Given the description of an element on the screen output the (x, y) to click on. 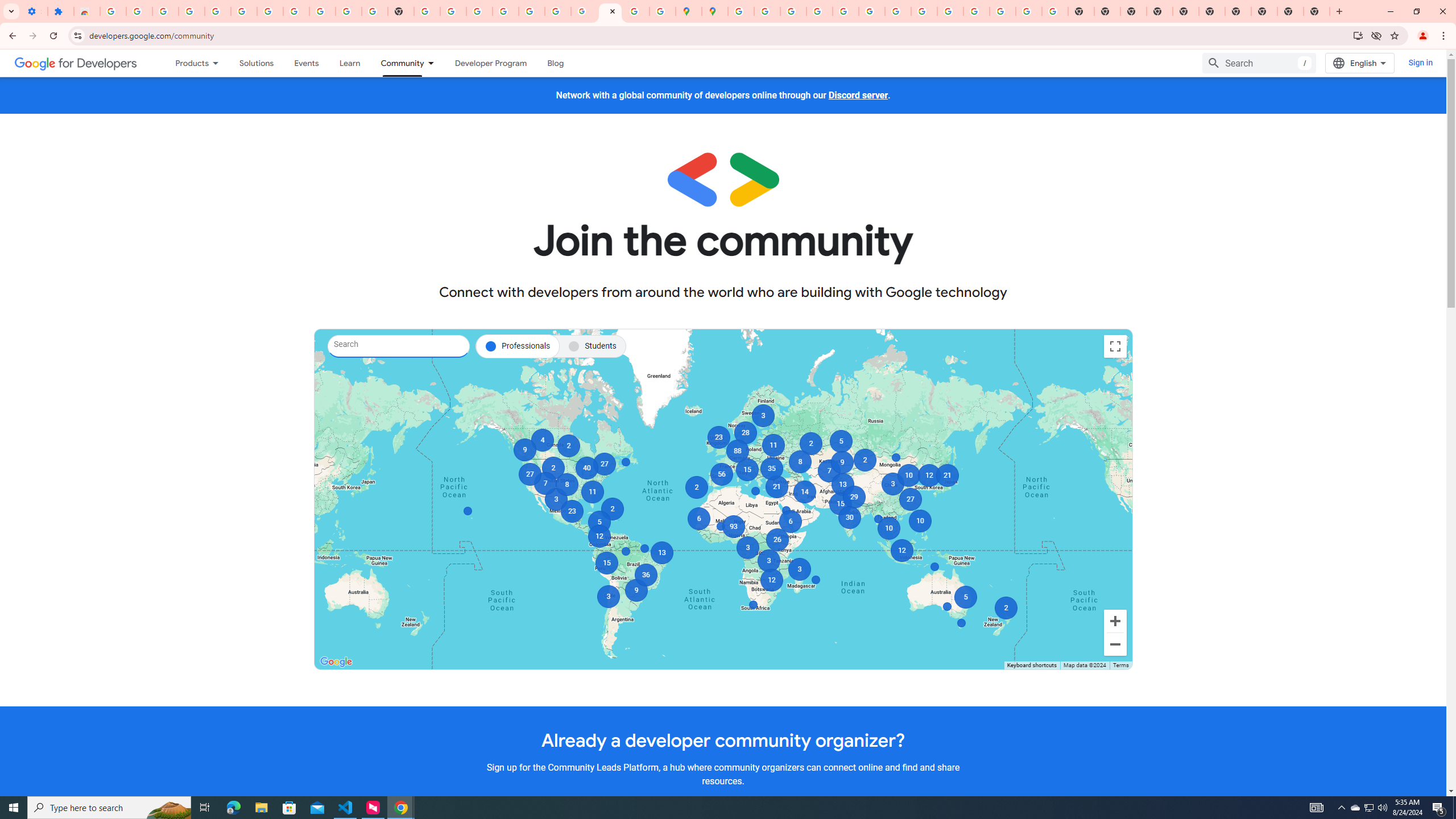
2 (611, 508)
Sign in - Google Accounts (269, 11)
Search (1259, 63)
YouTube (897, 11)
Toggle fullscreen view (1114, 345)
27 (603, 463)
Google Account (322, 11)
Blog (556, 62)
Sign in - Google Accounts (112, 11)
Zoom out (1114, 644)
23 (571, 510)
